Given the description of an element on the screen output the (x, y) to click on. 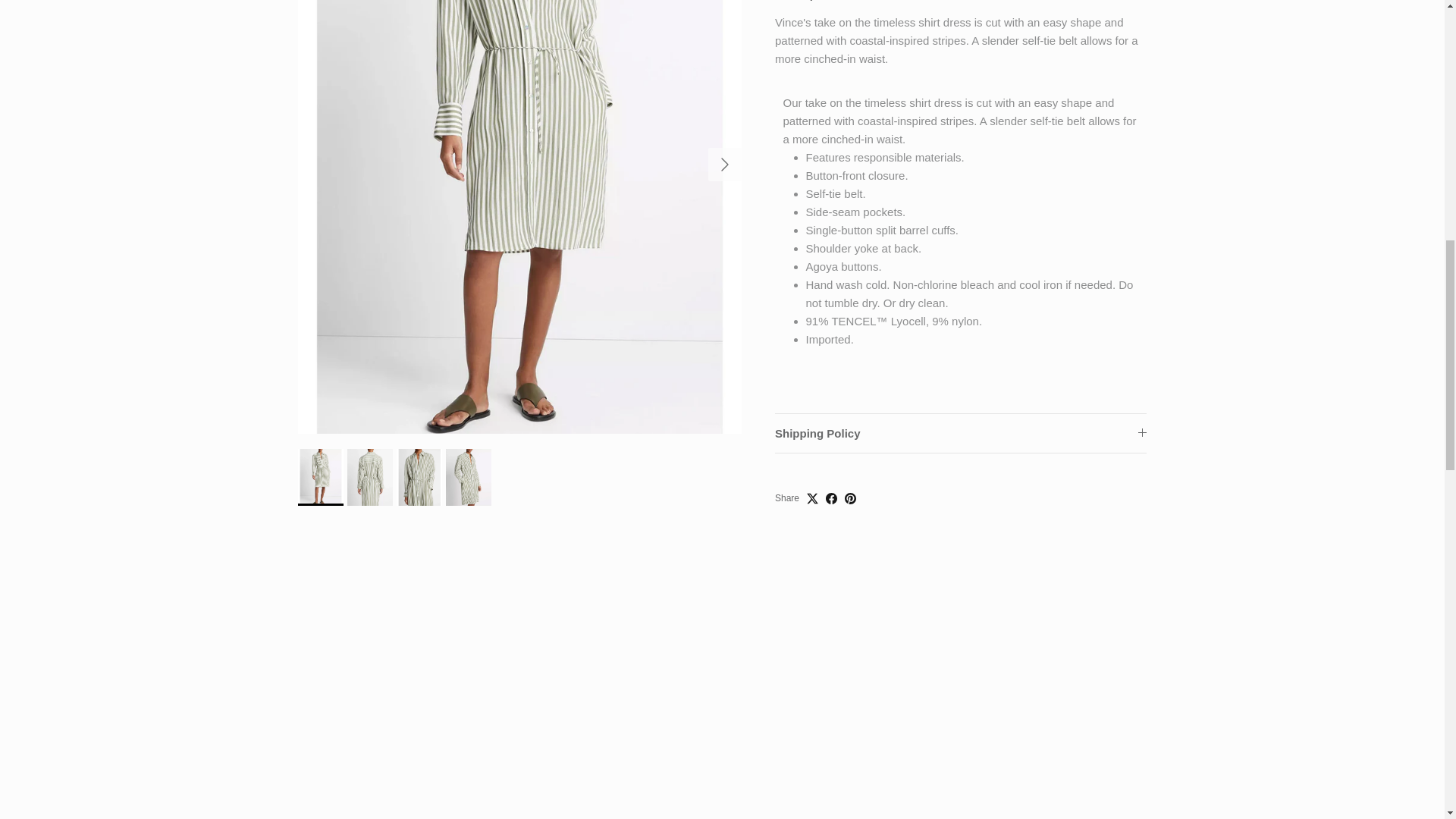
Share on Facebook (831, 479)
Tweet on X (812, 479)
Pin on Pinterest (850, 479)
